Given the description of an element on the screen output the (x, y) to click on. 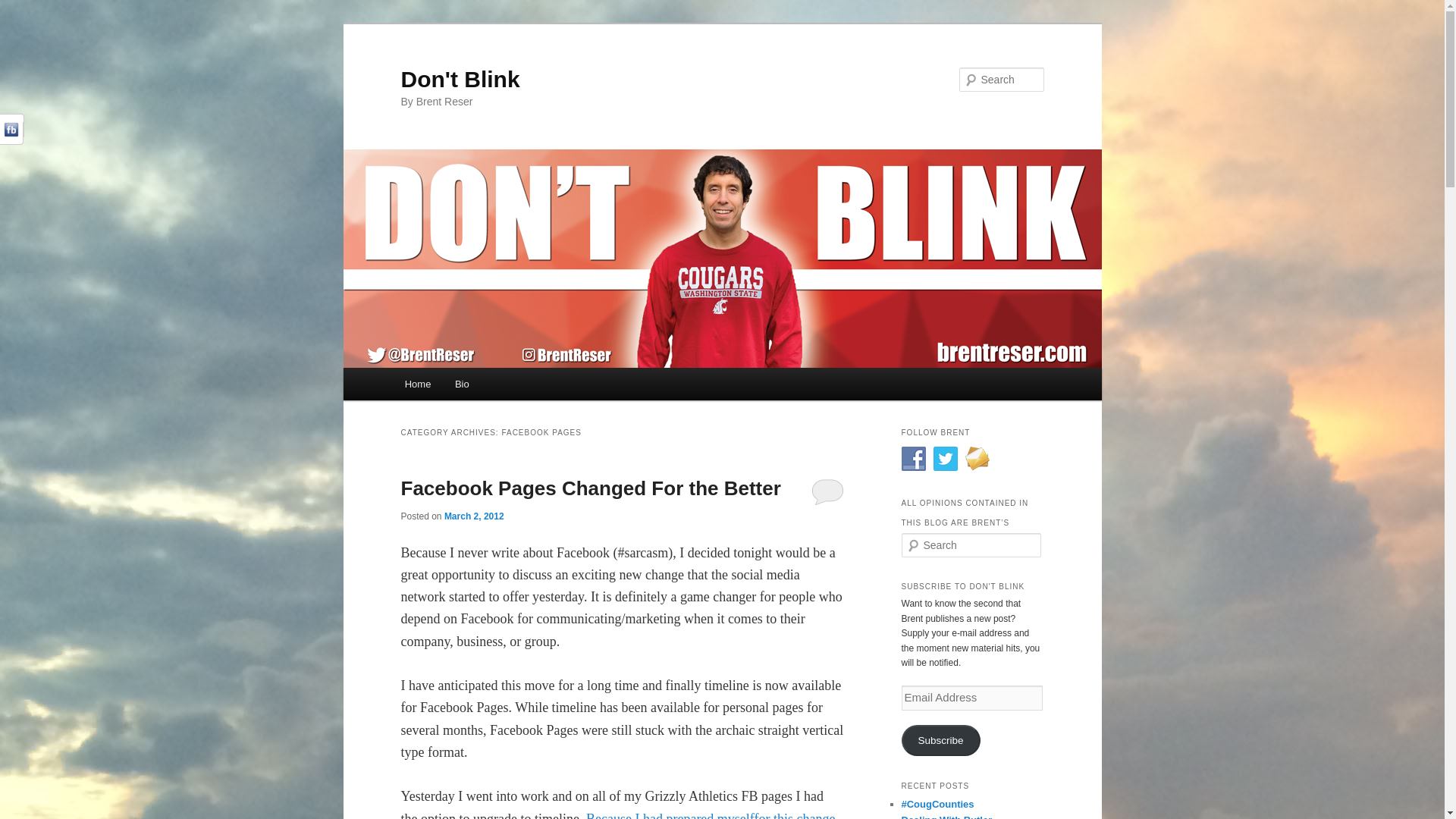
Follow Brent on Facebook (912, 458)
Skip to primary content (472, 386)
Subscribe (940, 739)
Don't Blink (459, 78)
Search (24, 8)
Home (417, 383)
Facebook Pages Changed For the Better (590, 487)
Follow Brent on Twitter (944, 458)
March 2, 2012 (473, 516)
Skip to secondary content (479, 386)
Search (21, 11)
Dealing With Butler (946, 816)
Permalink to Facebook Pages Changed For the Better (590, 487)
Bio (461, 383)
